Given the description of an element on the screen output the (x, y) to click on. 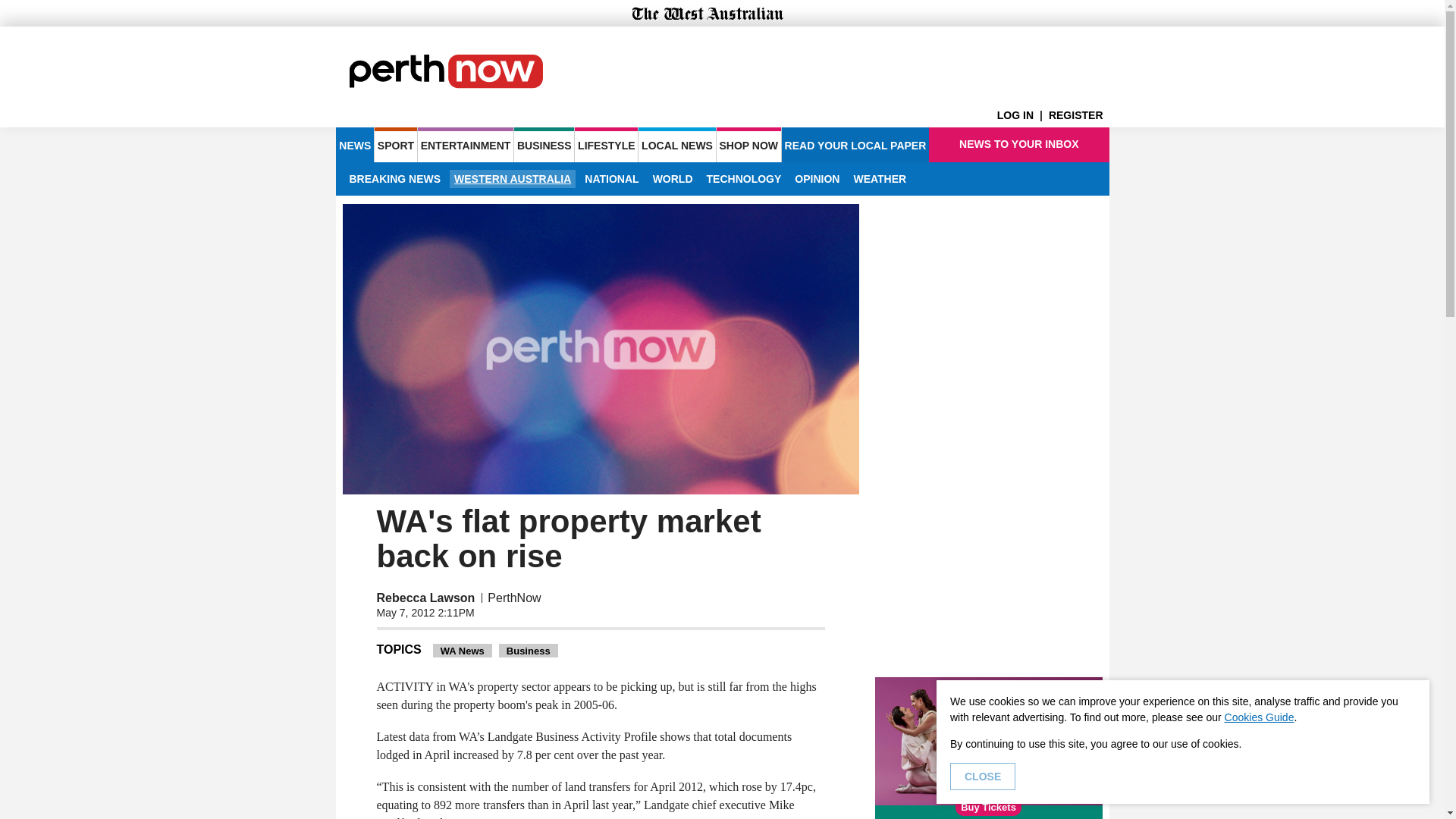
REGISTER (1078, 115)
SPORT (395, 144)
LOG IN (1022, 115)
NEWS (354, 144)
ENTERTAINMENT (465, 144)
